Given the description of an element on the screen output the (x, y) to click on. 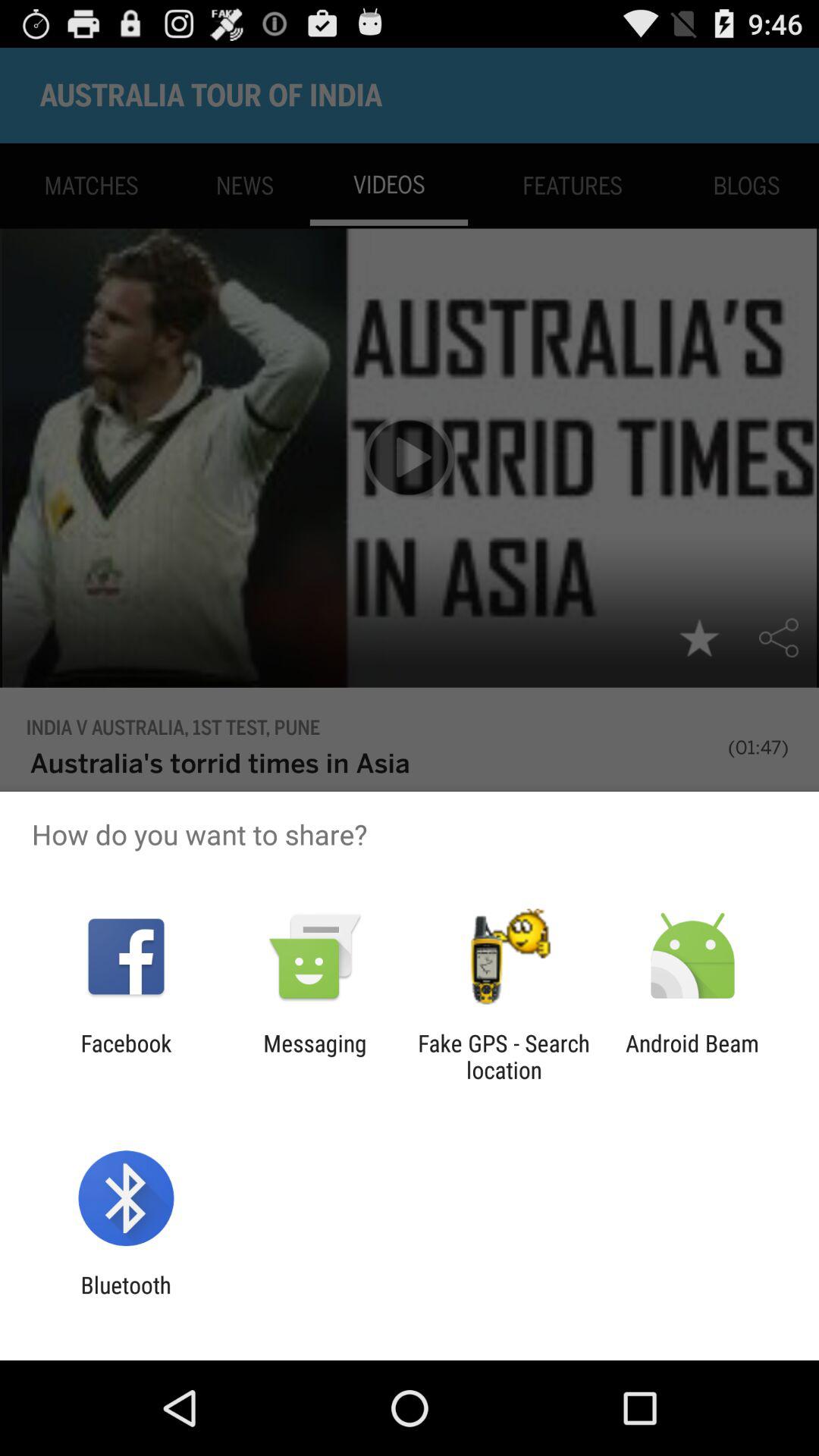
scroll until bluetooth icon (125, 1298)
